Given the description of an element on the screen output the (x, y) to click on. 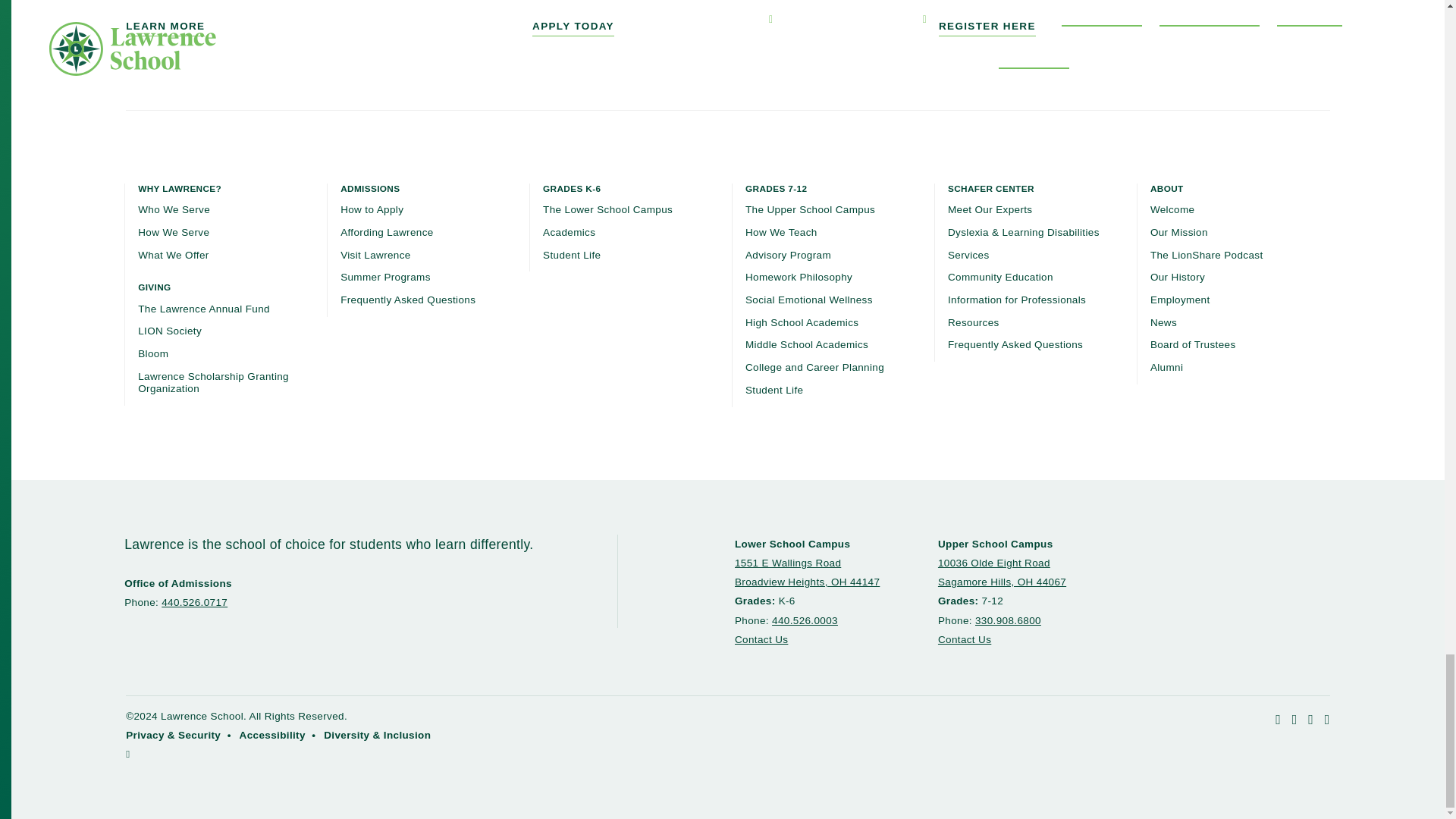
Orton-Gillingham. What is it? (320, 18)
Now registering for summer! (727, 18)
Spend your lunch hour with us. (1134, 18)
